Given the description of an element on the screen output the (x, y) to click on. 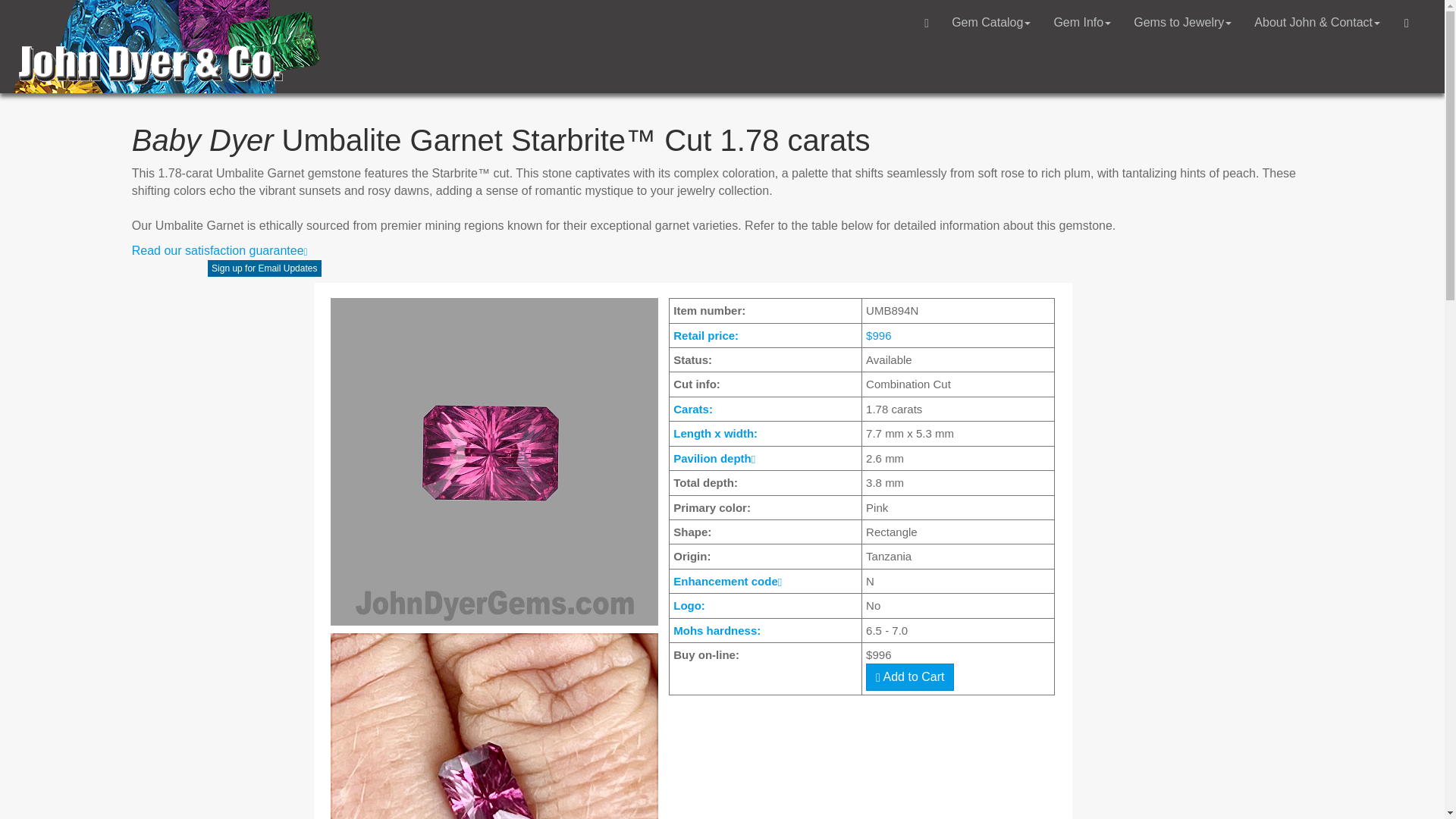
Gems to Jewelry (1182, 22)
Gem Info (1082, 22)
Gem Catalog (991, 22)
